Given the description of an element on the screen output the (x, y) to click on. 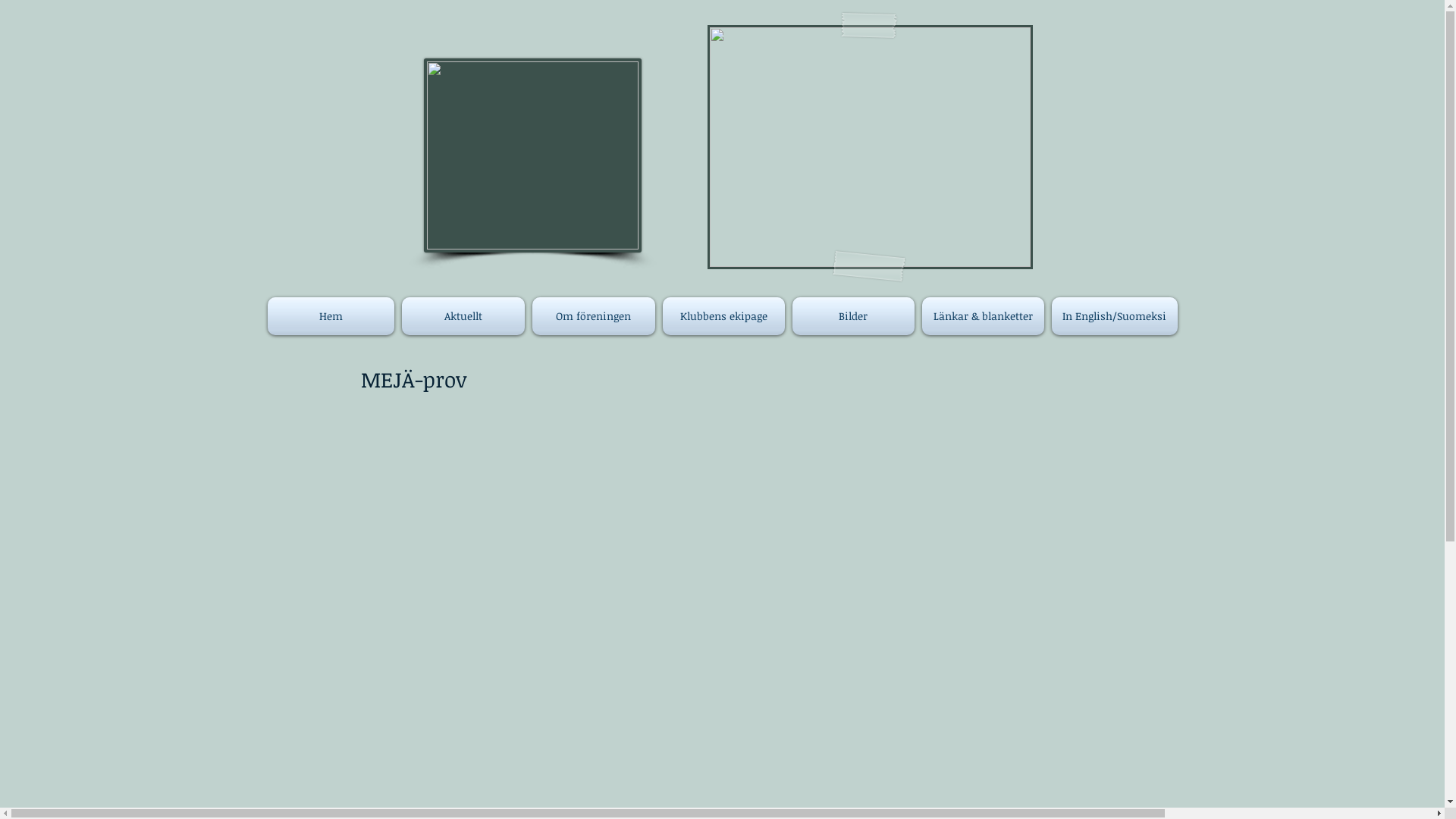
IMG_9191.jpg Element type: hover (869, 147)
logo.jpg Element type: hover (531, 155)
Bilder Element type: text (853, 316)
Hem Element type: text (331, 316)
In English/Suomeksi Element type: text (1112, 316)
